Given the description of an element on the screen output the (x, y) to click on. 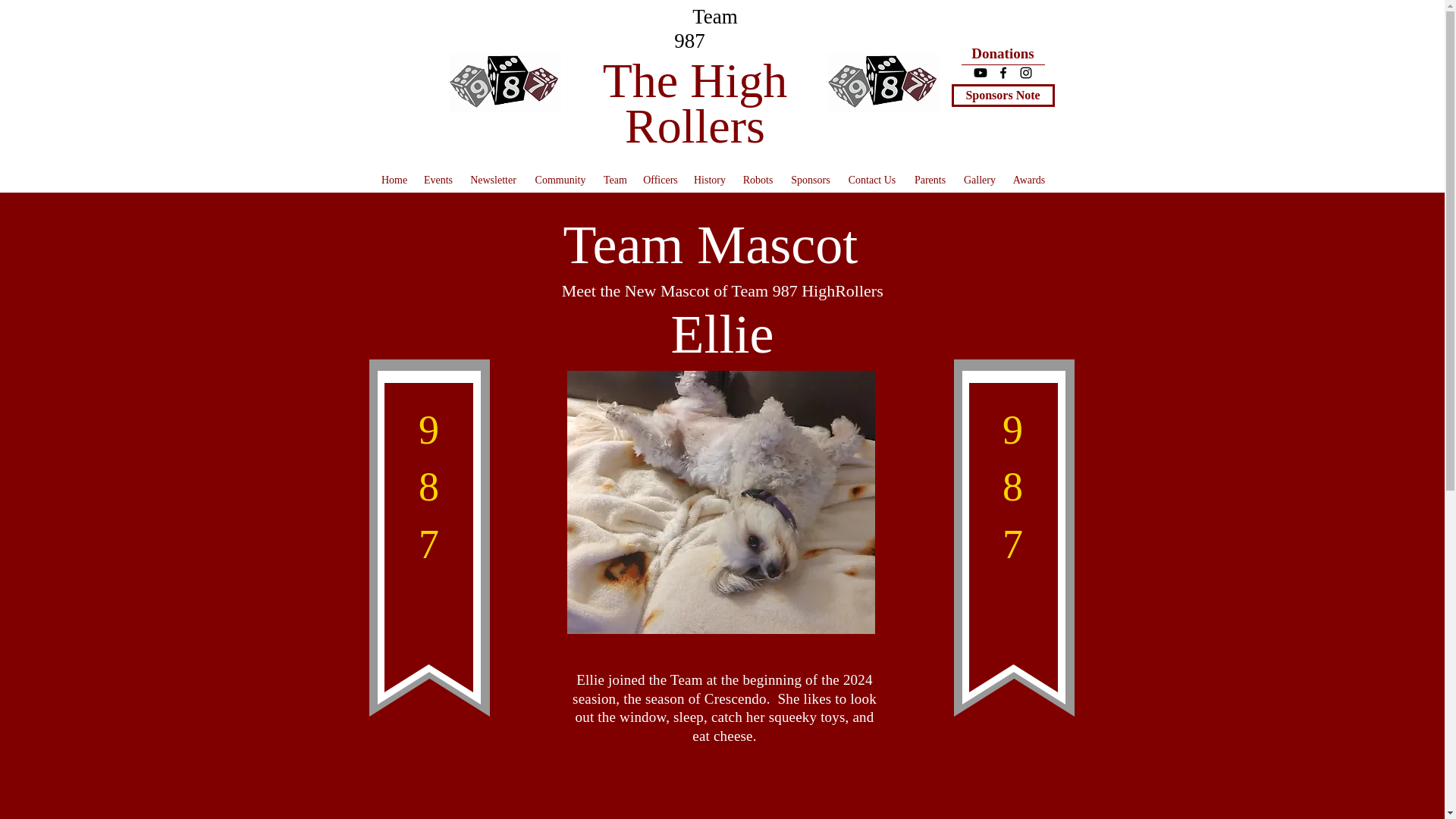
Donations (1002, 53)
Parents (929, 180)
Team (614, 180)
Robots (757, 180)
Events (437, 180)
Officers (659, 180)
          Team 987 (690, 28)
Awards (1029, 180)
Sponsors Note (1002, 95)
History (709, 180)
